Given the description of an element on the screen output the (x, y) to click on. 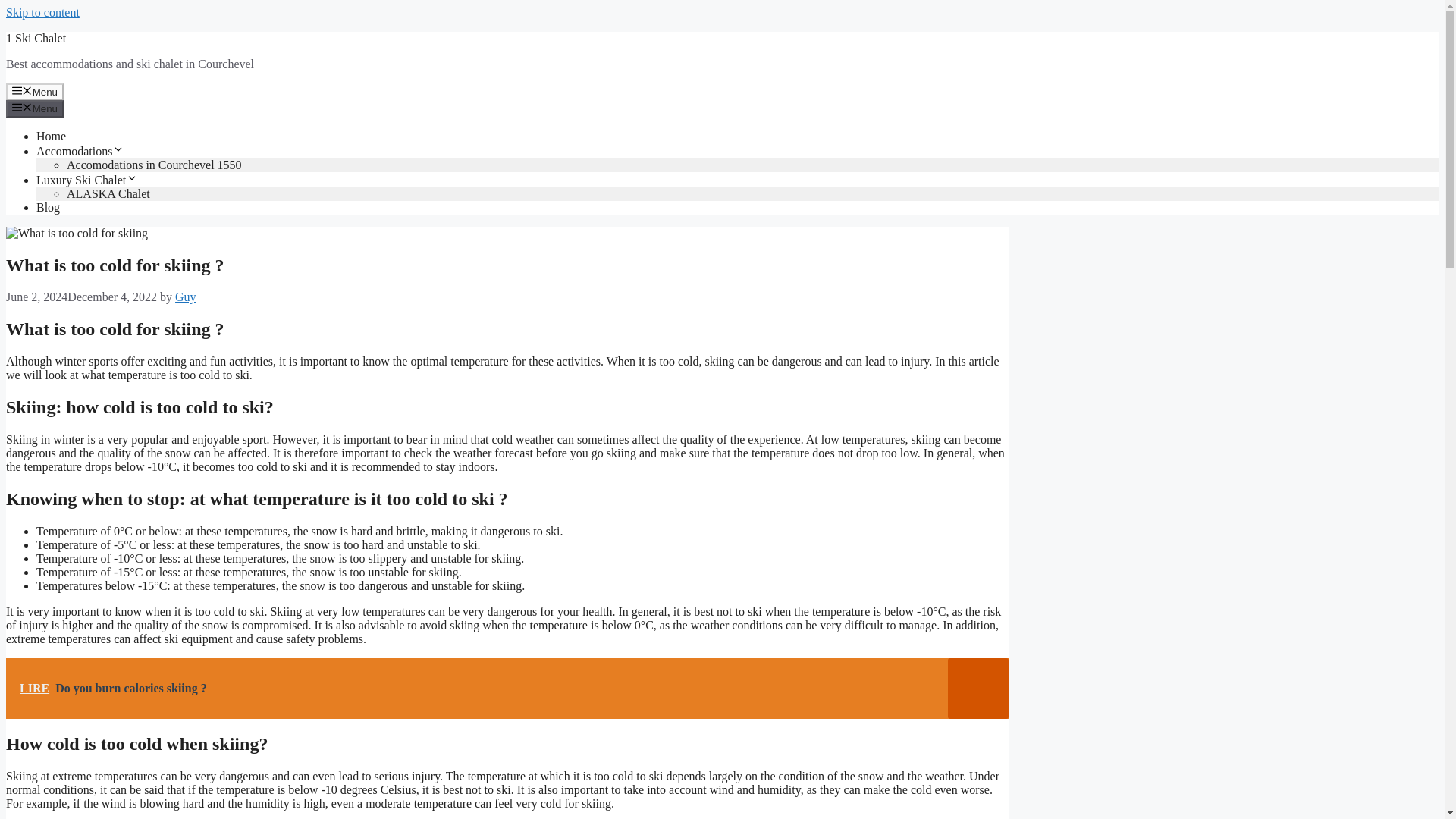
Luxury Ski Chalet (87, 179)
View all posts by Guy (185, 296)
Skip to content (42, 11)
Home (50, 135)
ALASKA Chalet (107, 193)
Skip to content (42, 11)
LIRE  Do you burn calories skiing ? (507, 688)
Guy (185, 296)
Blog (47, 206)
Menu (34, 91)
1 Ski Chalet (35, 38)
Accomodations in Courchevel 1550 (153, 164)
Menu (34, 108)
Accomodations (79, 151)
